Given the description of an element on the screen output the (x, y) to click on. 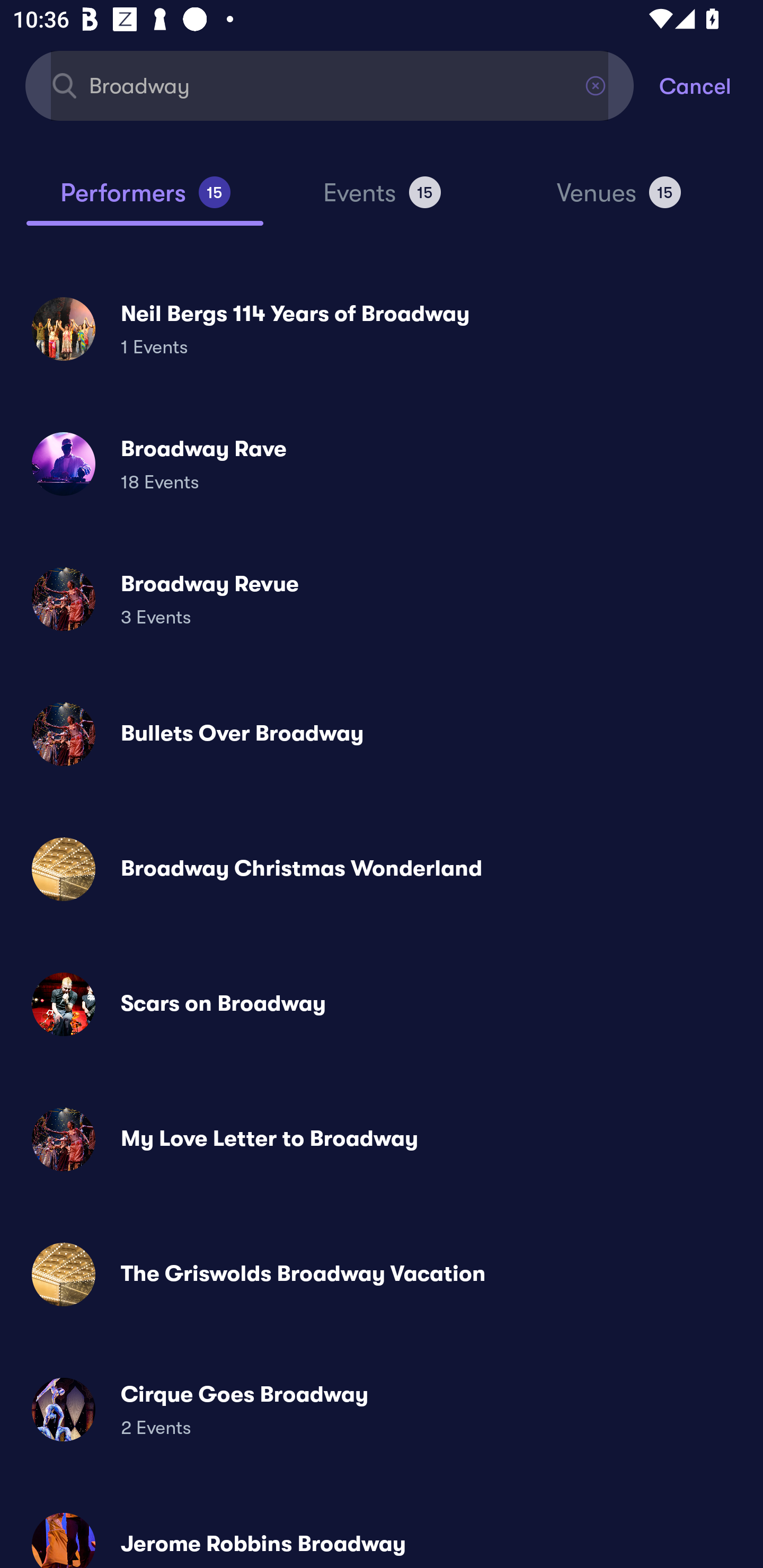
Broadway Find (329, 85)
Broadway Find (329, 85)
Cancel (711, 85)
Performers 15 (144, 200)
Events 15 (381, 200)
Venues 15 (618, 200)
Neil Bergs 114 Years of Broadway 1 Events (381, 328)
Broadway Rave 18 Events (381, 464)
Broadway Revue 3 Events (381, 598)
Bullets Over Broadway (381, 734)
Broadway Christmas Wonderland (381, 869)
Scars on Broadway (381, 1004)
My Love Letter to Broadway (381, 1138)
The Griswolds Broadway Vacation (381, 1273)
Cirque Goes Broadway 2 Events (381, 1409)
Jerome Robbins Broadway (381, 1532)
